Given the description of an element on the screen output the (x, y) to click on. 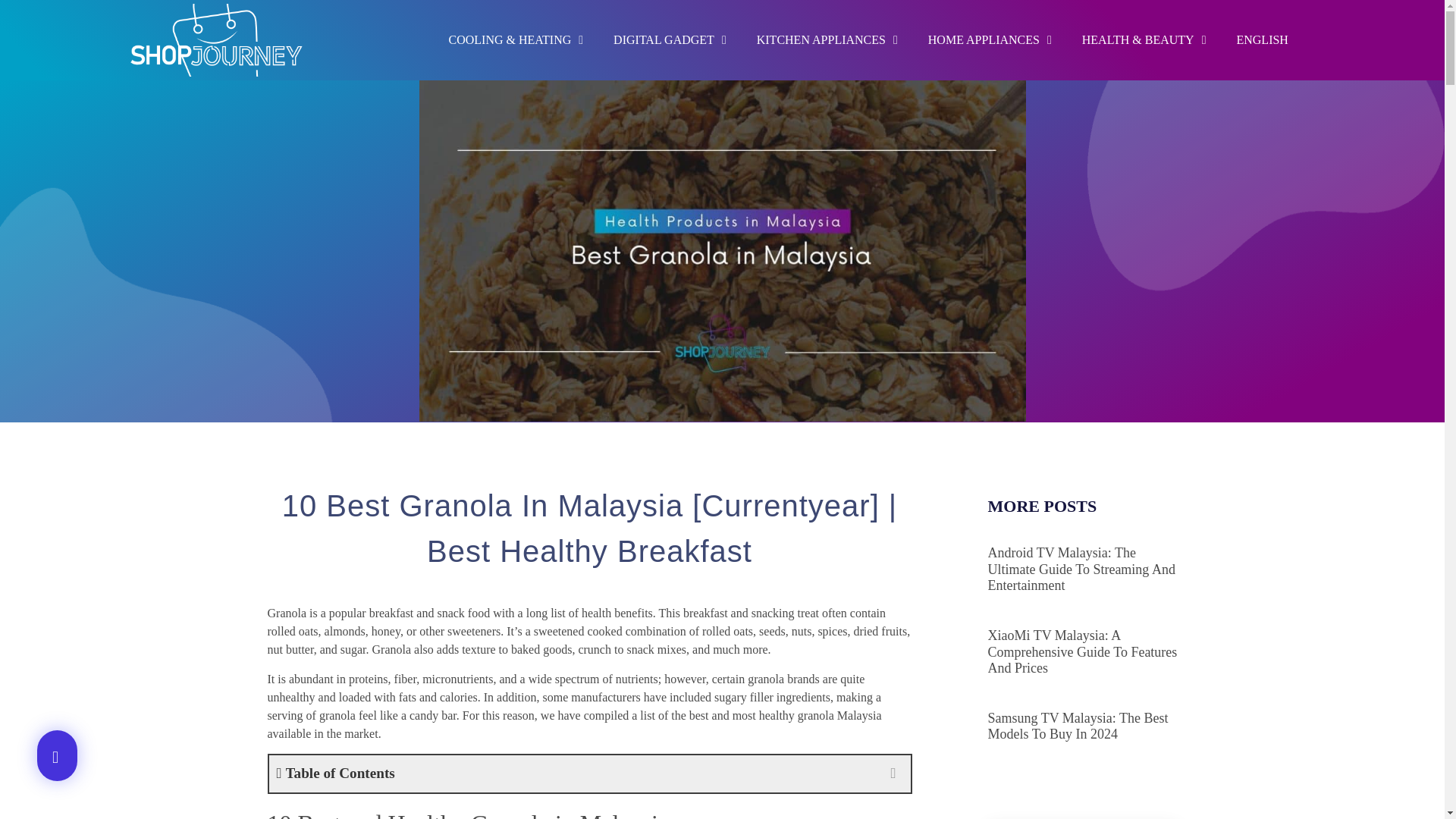
HOME APPLIANCES (989, 39)
English (1262, 39)
ENGLISH (1262, 39)
KITCHEN APPLIANCES (826, 39)
DIGITAL GADGET (669, 39)
